Given the description of an element on the screen output the (x, y) to click on. 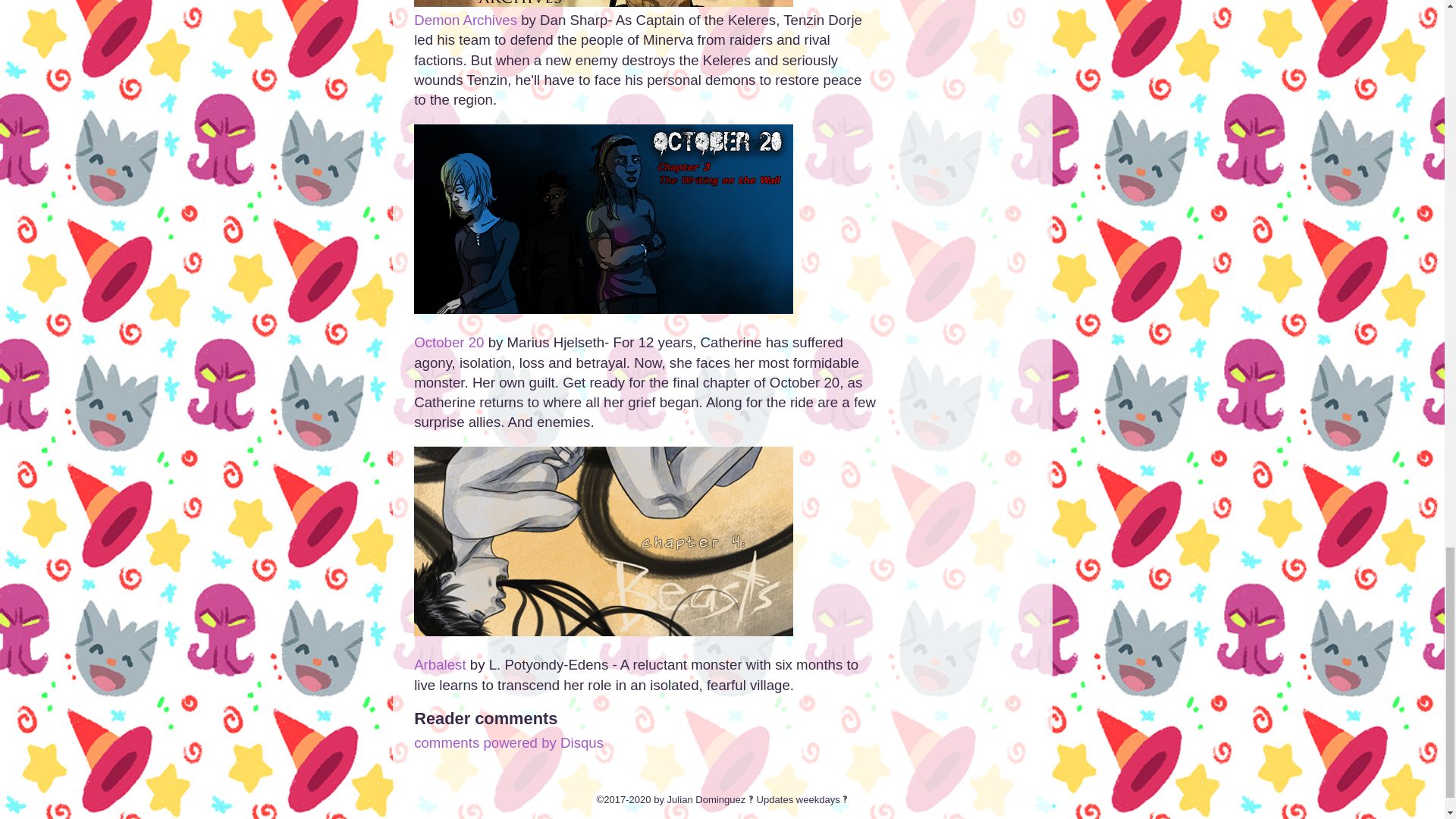
comments powered by Disqus (508, 742)
Demon Archives (464, 19)
October 20 (448, 342)
Arbalest (439, 664)
